Given the description of an element on the screen output the (x, y) to click on. 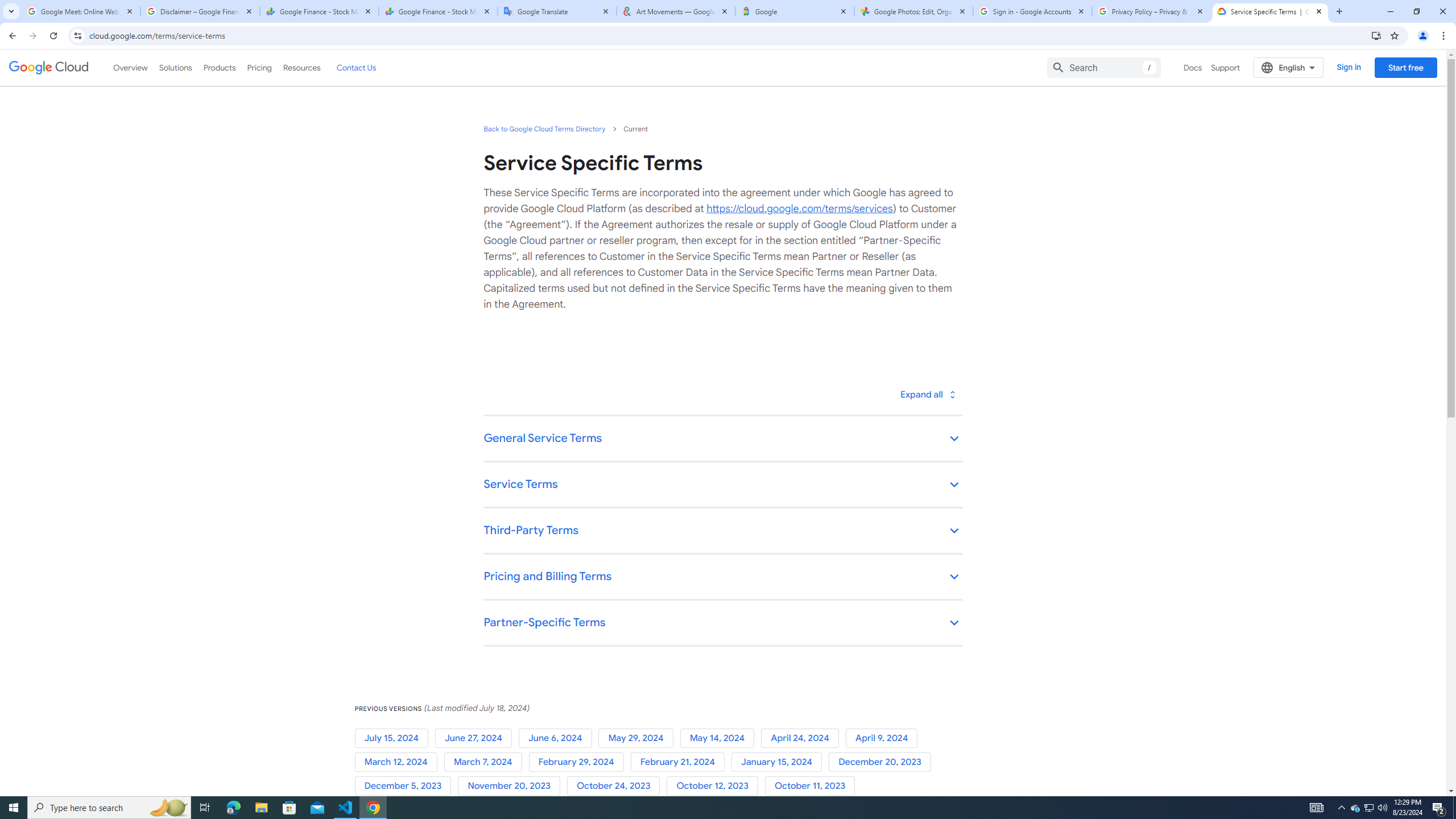
Start free (1405, 67)
Toggle all (927, 393)
Bookmark this tab (1393, 35)
February 29, 2024 (579, 761)
Back (10, 35)
Resources (301, 67)
October 12, 2023 (715, 786)
Google (794, 11)
December 5, 2023 (405, 786)
Contact Us (355, 67)
Back to Google Cloud Terms Directory (544, 128)
Pricing (259, 67)
